Given the description of an element on the screen output the (x, y) to click on. 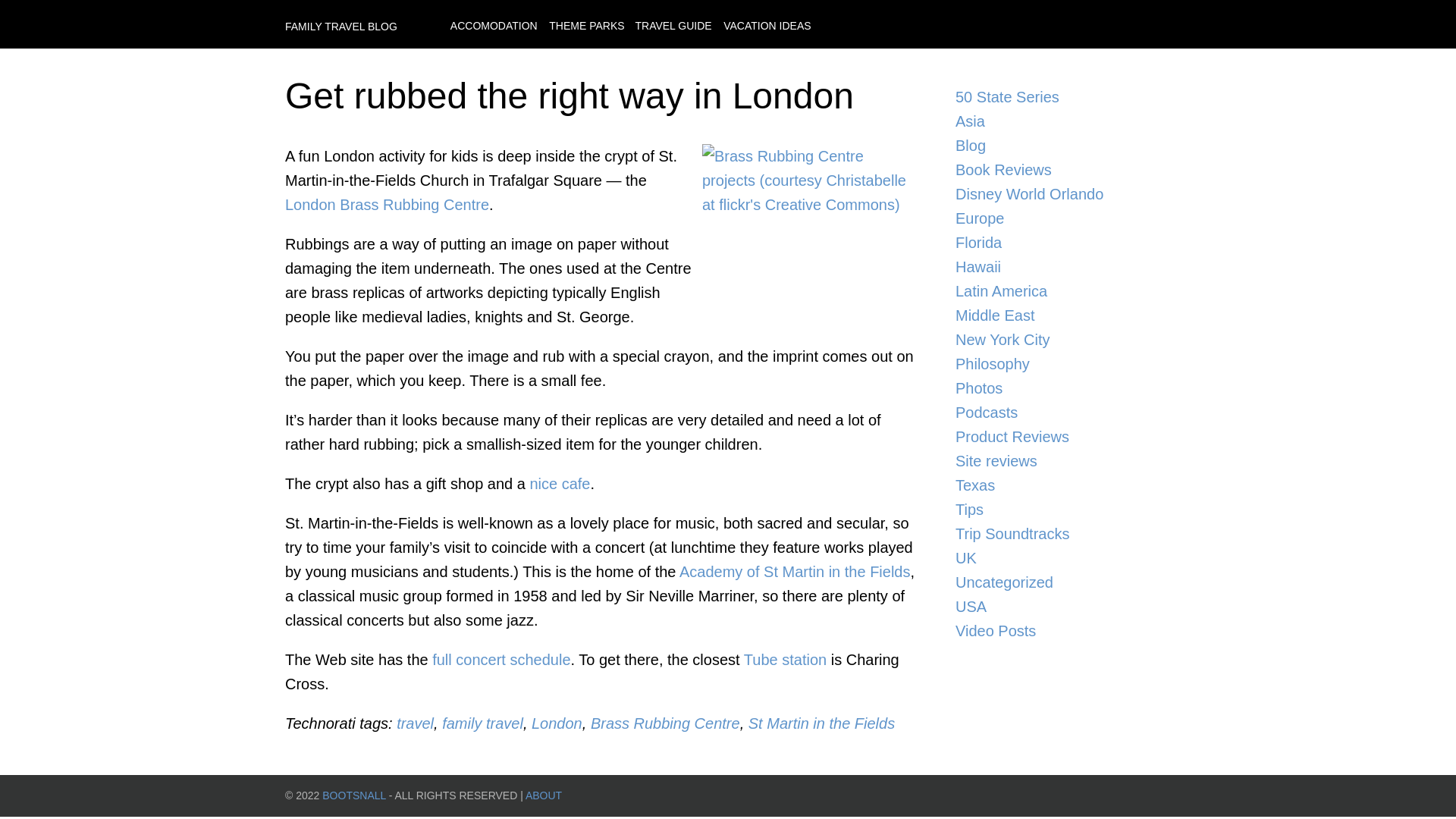
Trip Soundtracks (1056, 533)
Site reviews (1056, 460)
Asia (1056, 120)
Uncategorized (1056, 582)
Brass Rubbing Centre (665, 723)
USA (1056, 606)
TRAVEL GUIDE (672, 25)
All upcoming concerts and performances. (501, 659)
New York City (1056, 339)
Photos (1056, 387)
